Given the description of an element on the screen output the (x, y) to click on. 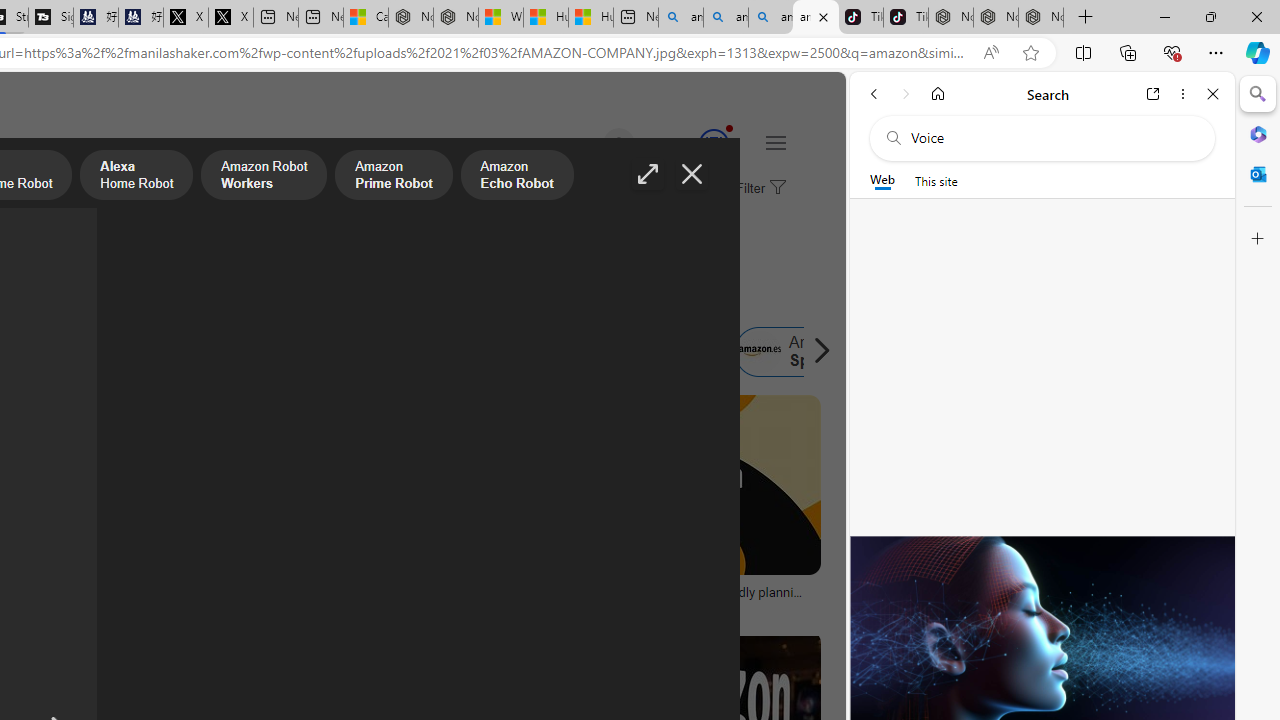
Amazon Logo (PNG e SVG) Download Vetorial Transparente (98, 598)
Nordace Siena Pro 15 Backpack (995, 17)
This site scope (936, 180)
Forward (906, 93)
Amazon Forest (517, 351)
Amazon Robot Workers (263, 177)
Search the web (1051, 137)
Amazon Prime Membership (44, 351)
Web scope (882, 180)
Nordace - Siena Pro 15 Essential Set (1040, 17)
Class: item col (801, 351)
